Given the description of an element on the screen output the (x, y) to click on. 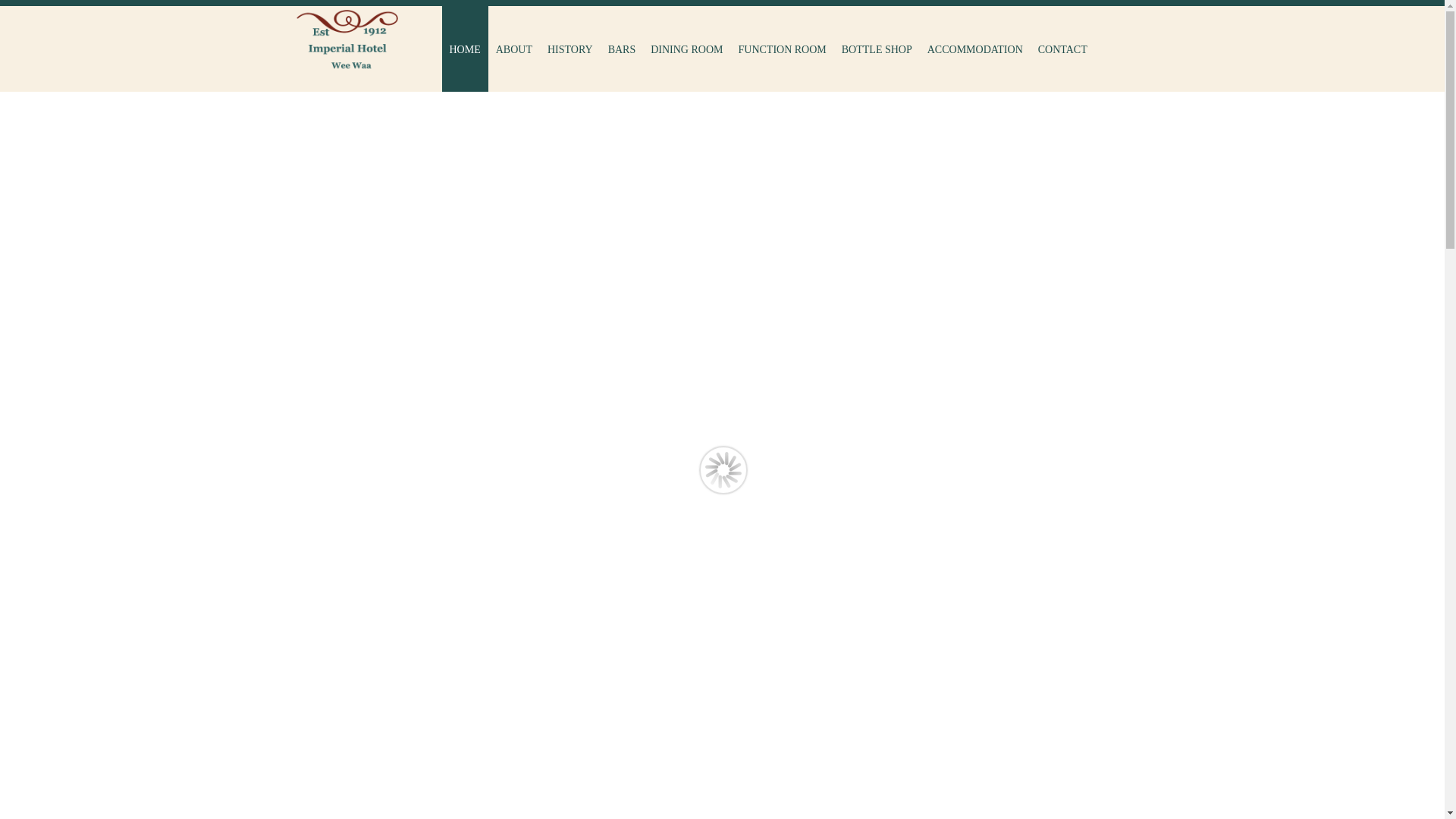
CONTACT Element type: text (1062, 48)
HISTORY Element type: text (569, 48)
ACCOMMODATION Element type: text (974, 48)
DINING ROOM Element type: text (686, 48)
BARS Element type: text (621, 48)
Imperial Element type: hover (347, 42)
BOTTLE SHOP Element type: text (876, 48)
HOME Element type: text (464, 48)
FUNCTION ROOM Element type: text (781, 48)
ABOUT Element type: text (513, 48)
